Given the description of an element on the screen output the (x, y) to click on. 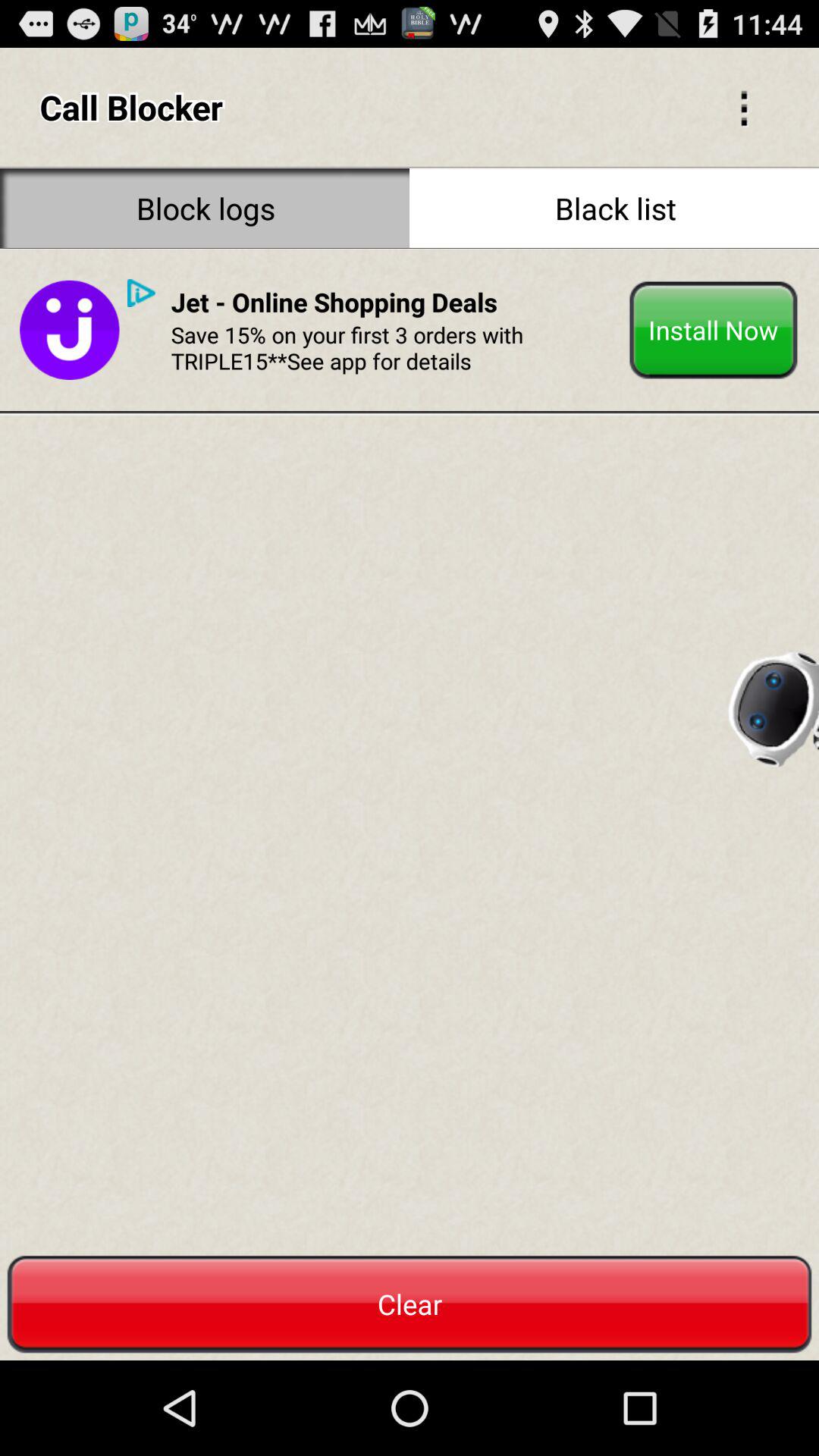
turn on icon to the left of the install now (394, 347)
